Given the description of an element on the screen output the (x, y) to click on. 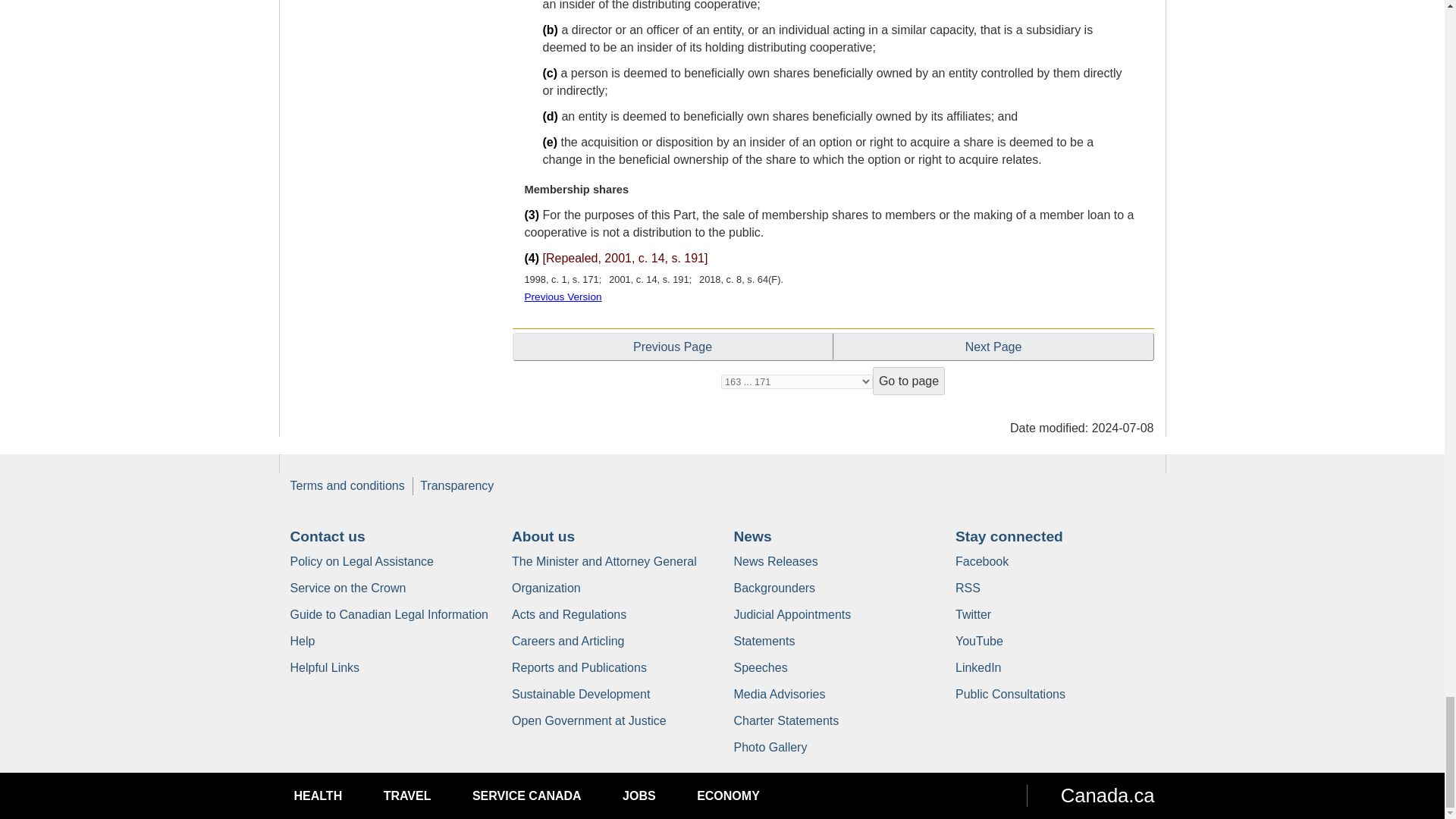
Select page (796, 381)
Link to previous version of section 171 (563, 296)
Go to page (908, 380)
